Given the description of an element on the screen output the (x, y) to click on. 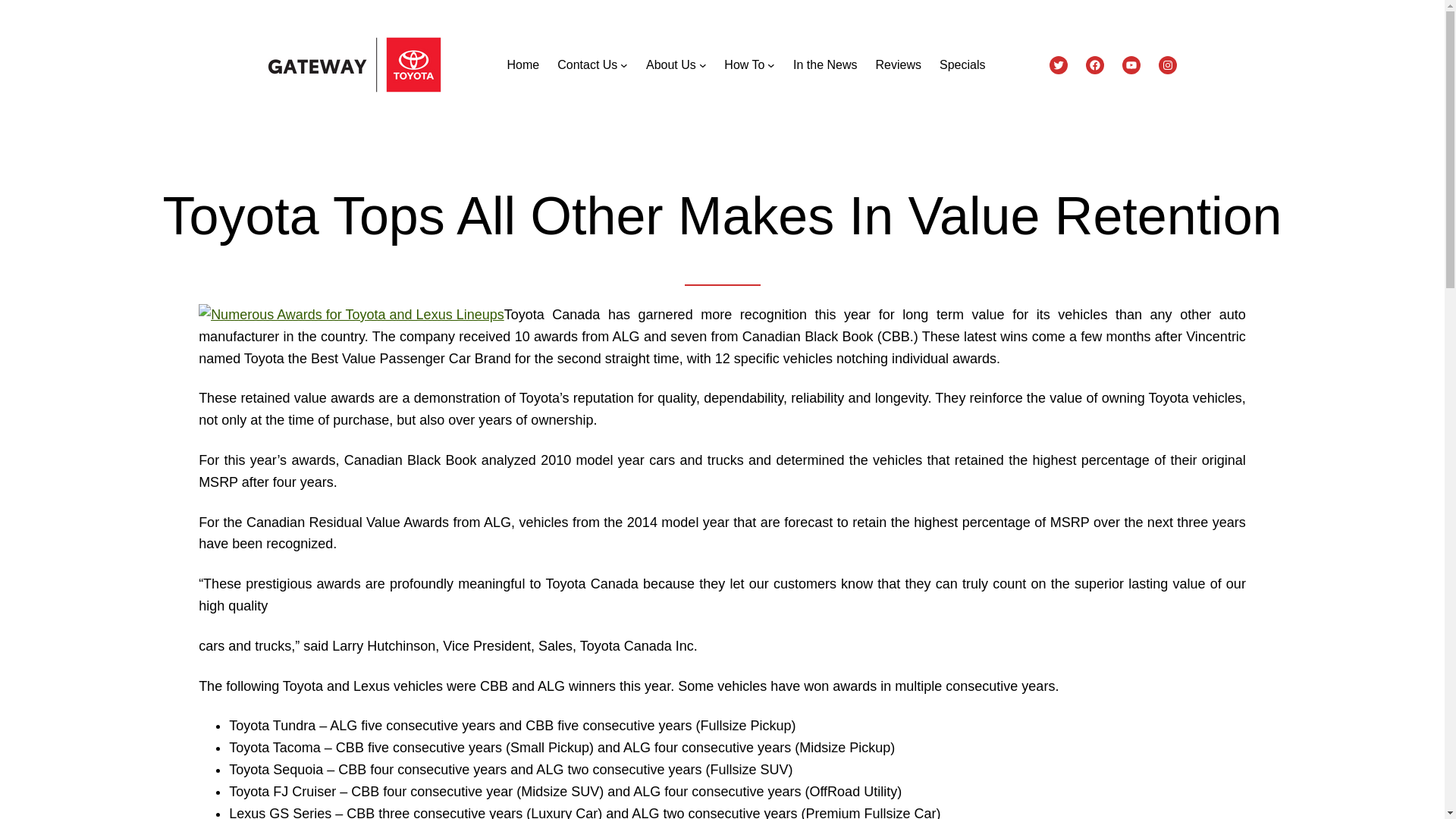
How To (743, 65)
Twitter (1058, 65)
About Us (670, 65)
YouTube (1131, 65)
In the News (825, 65)
Contact Us (587, 65)
Specials (962, 65)
Instagram (1167, 65)
Facebook (1094, 65)
Reviews (897, 65)
